Given the description of an element on the screen output the (x, y) to click on. 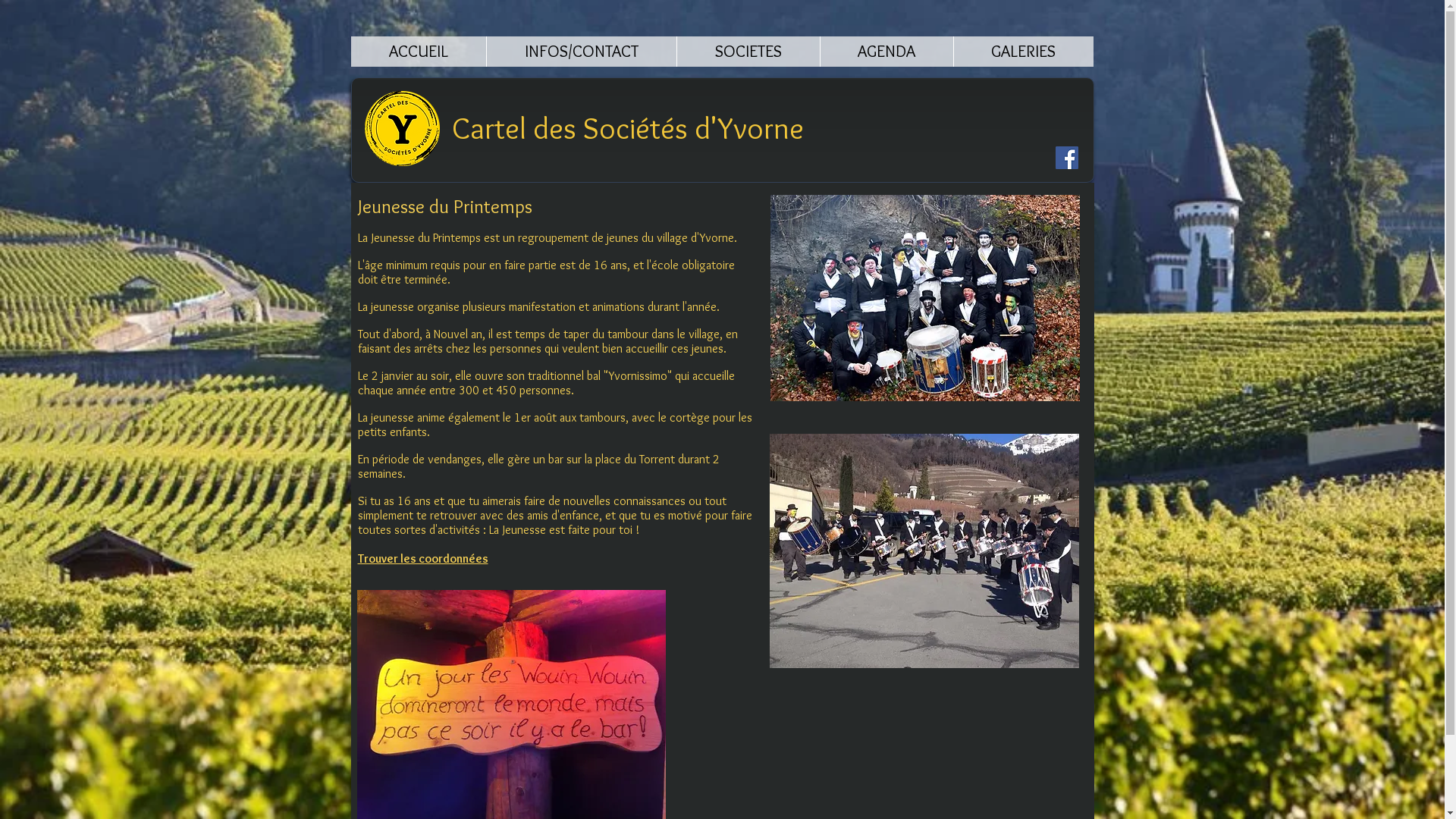
Cartel Element type: text (488, 127)
AGENDA Element type: text (885, 51)
GALERIES Element type: text (1022, 51)
Yvorne Logo.png Element type: hover (401, 128)
INFOS/CONTACT Element type: text (580, 51)
ACCUEIL Element type: text (417, 51)
SOCIETES Element type: text (747, 51)
